Given the description of an element on the screen output the (x, y) to click on. 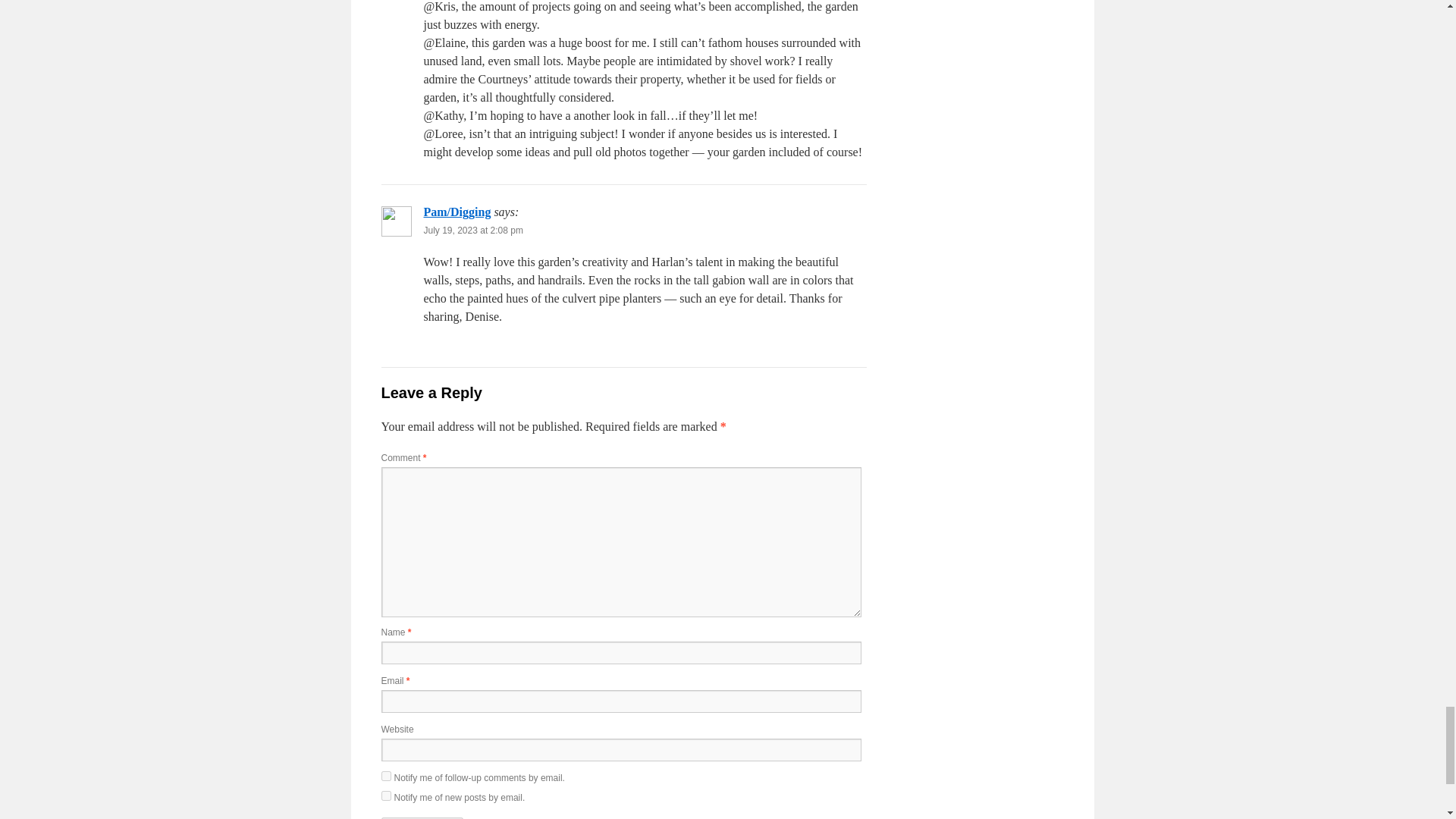
subscribe (385, 776)
Post Comment (421, 818)
subscribe (385, 795)
